Given the description of an element on the screen output the (x, y) to click on. 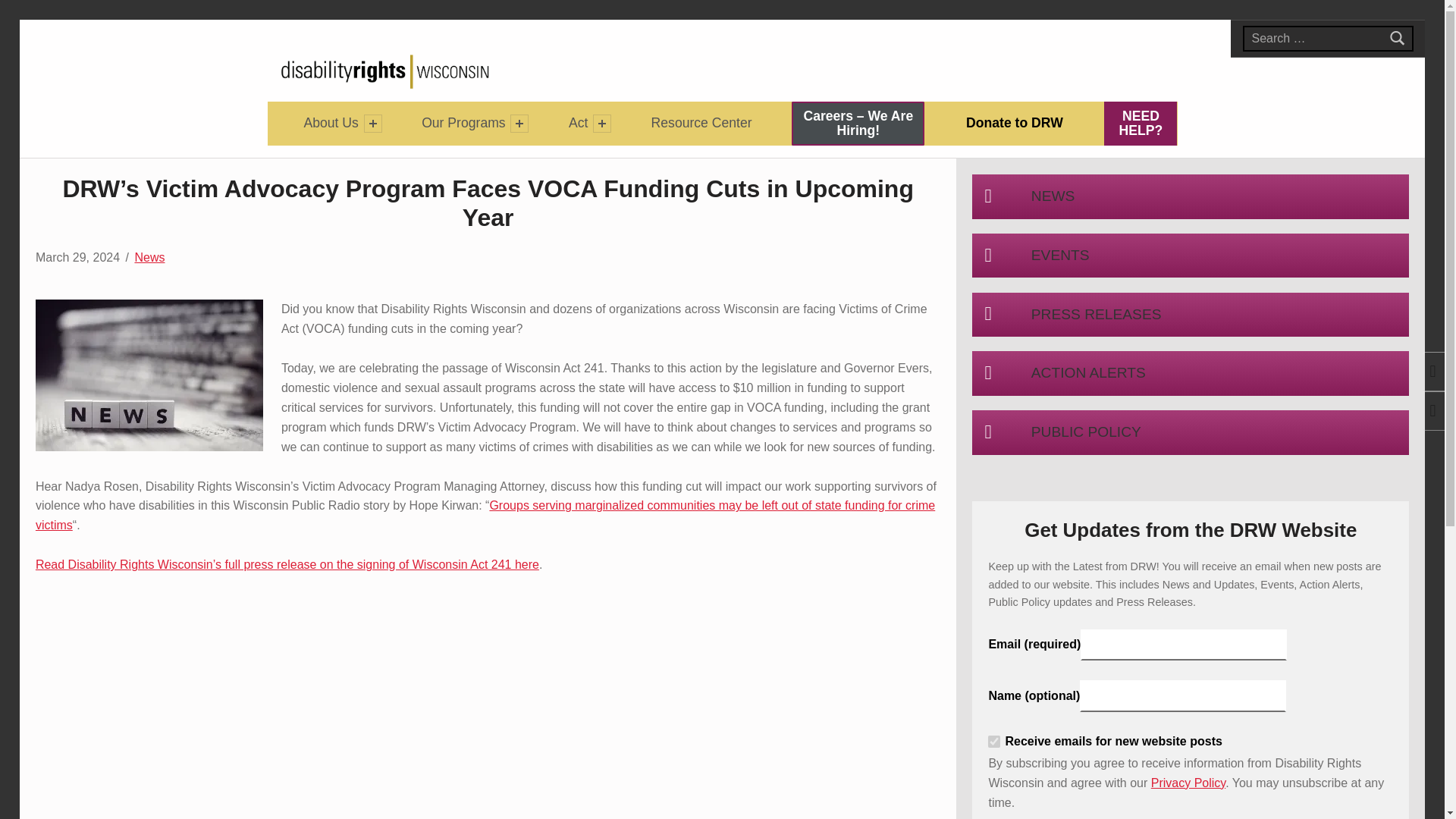
NEED HELP? (994, 741)
Our Programs (1139, 123)
Act (463, 123)
Resource Center (578, 123)
About Us (701, 123)
Donate to DRW (330, 123)
